Given the description of an element on the screen output the (x, y) to click on. 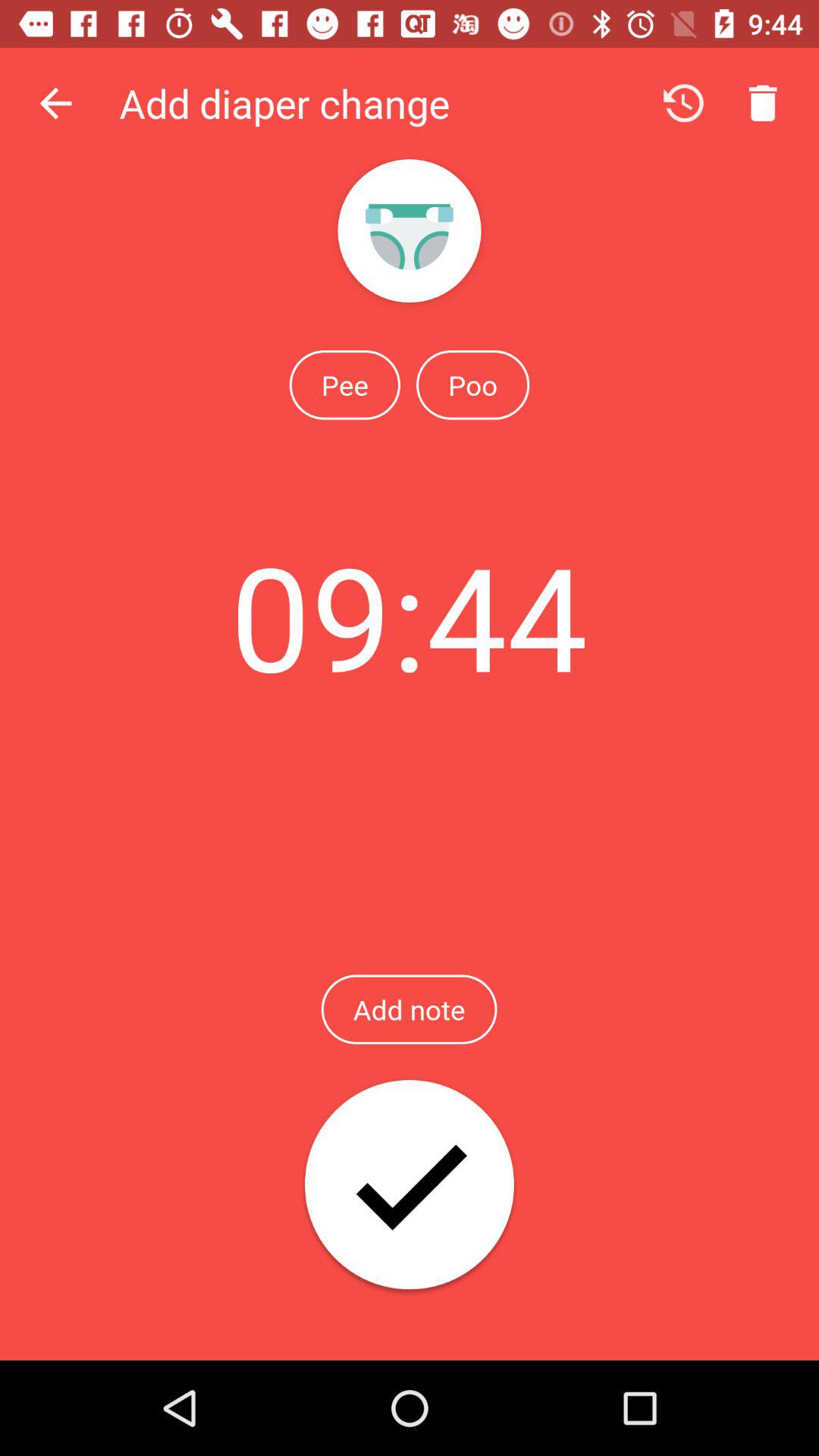
press the icon above add note (409, 615)
